Given the description of an element on the screen output the (x, y) to click on. 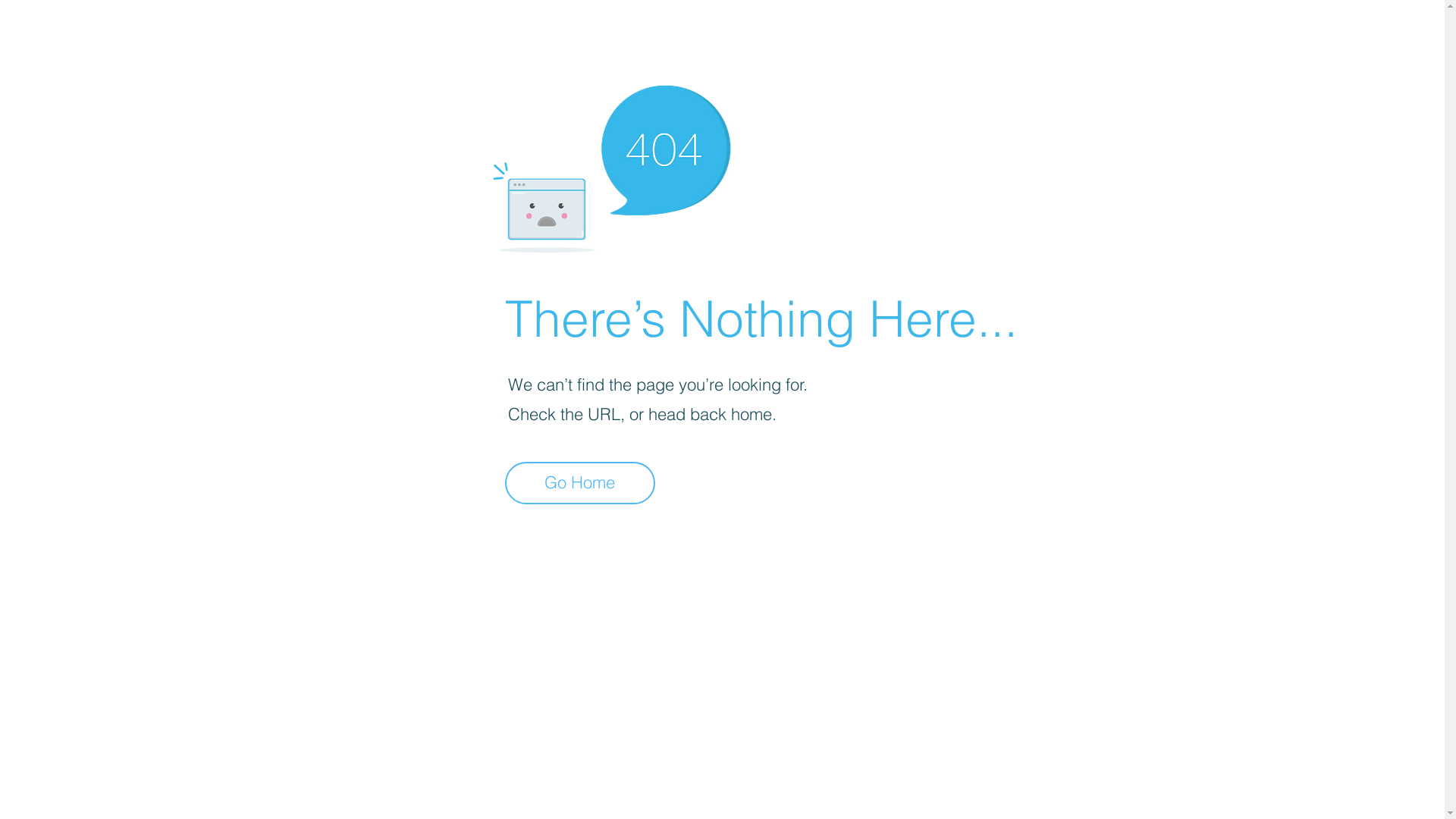
Go Home Element type: text (580, 482)
404-icon_2.png Element type: hover (610, 164)
